Given the description of an element on the screen output the (x, y) to click on. 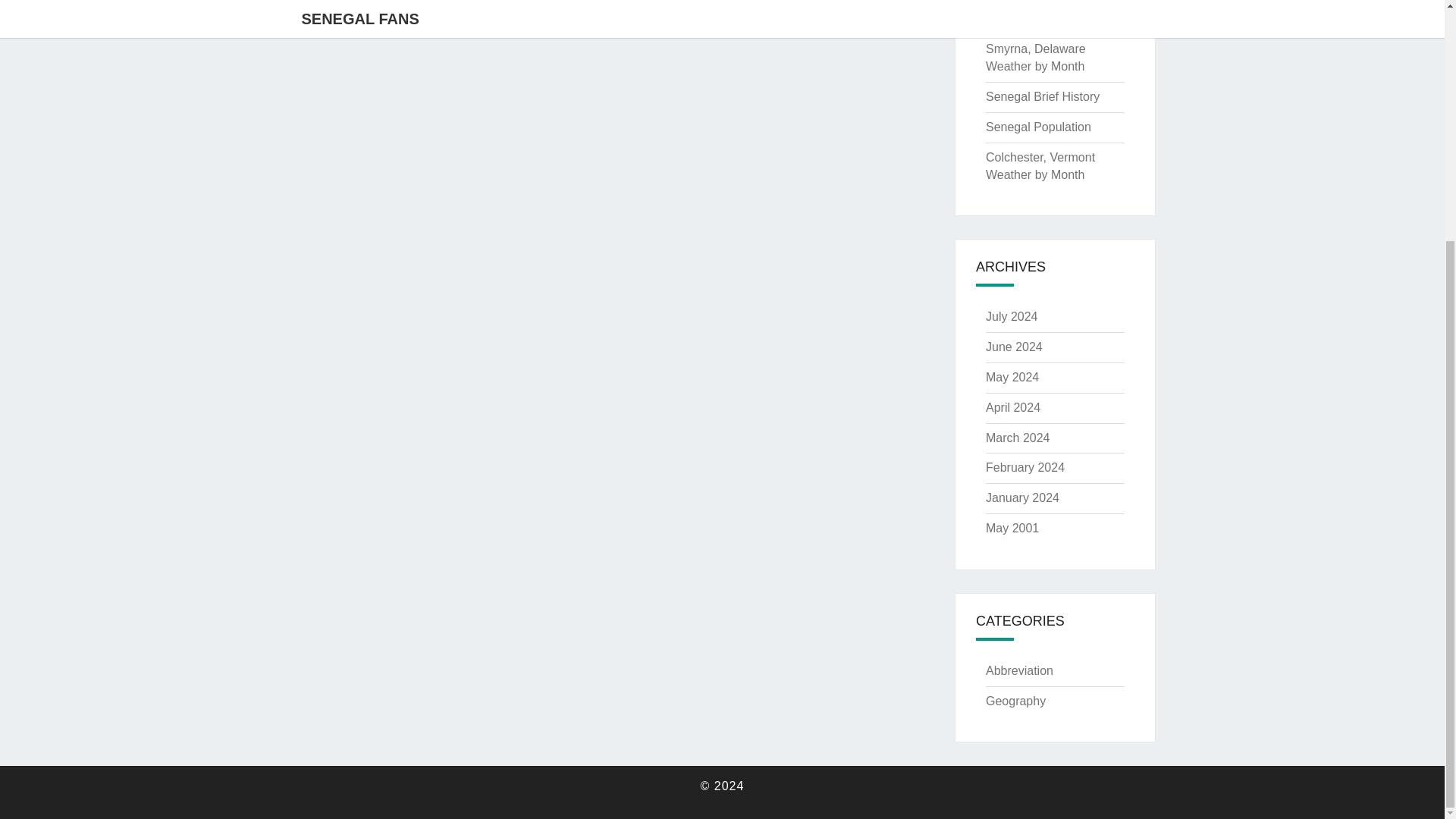
Geography (1015, 700)
Abbreviation (1018, 670)
May 2001 (1012, 527)
April 2024 (1013, 407)
June 2024 (1013, 346)
March 2024 (1017, 437)
Senegal Brief History (1042, 96)
February 2024 (1024, 467)
Smyrna, Delaware Weather by Month (1035, 57)
July 2024 (1011, 316)
Senegal Population (1037, 126)
May 2024 (1012, 377)
Bruceton, Tennessee Weather by Month (1042, 12)
